Given the description of an element on the screen output the (x, y) to click on. 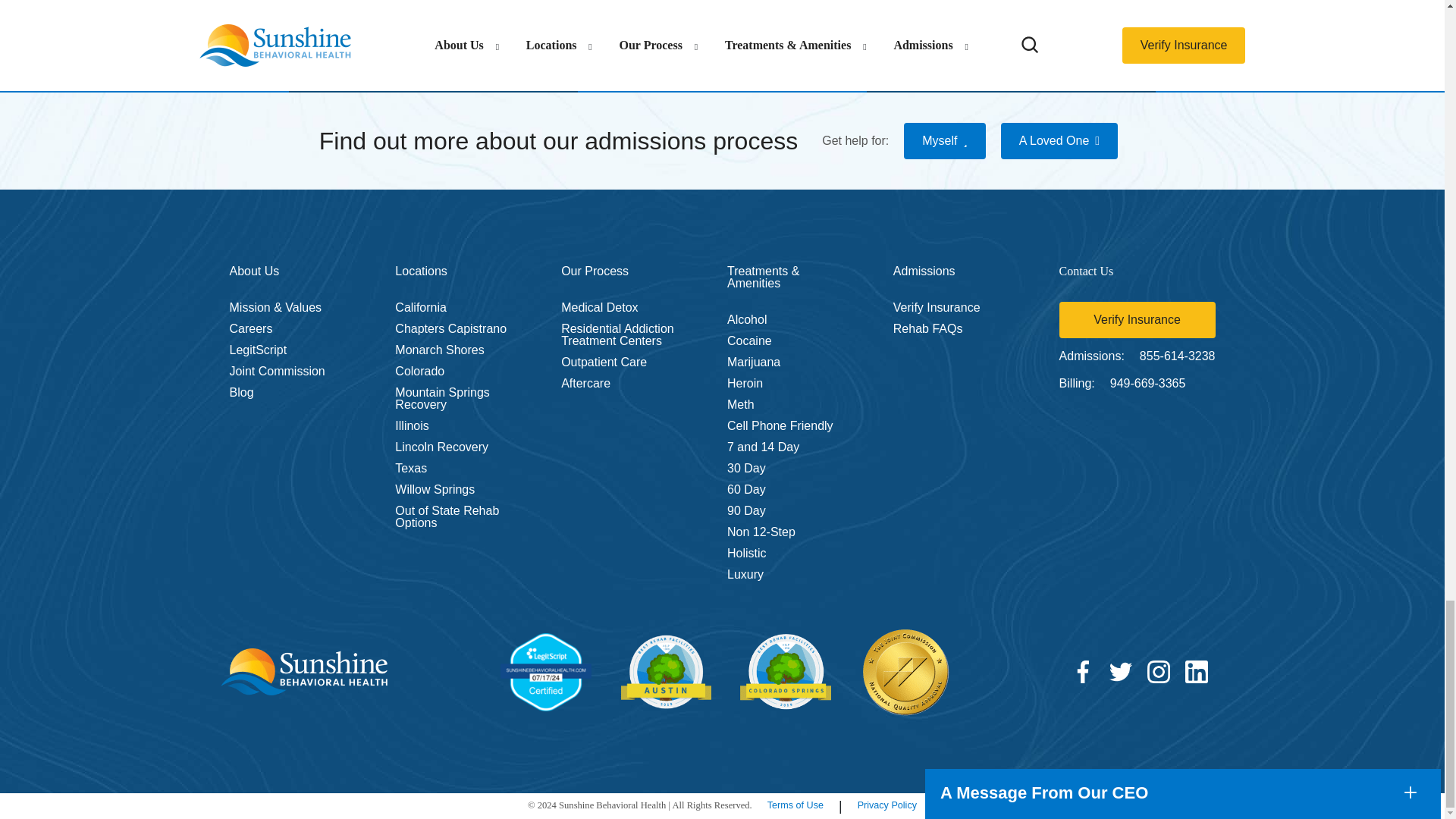
Verify LegitScript Approval (545, 672)
